Given the description of an element on the screen output the (x, y) to click on. 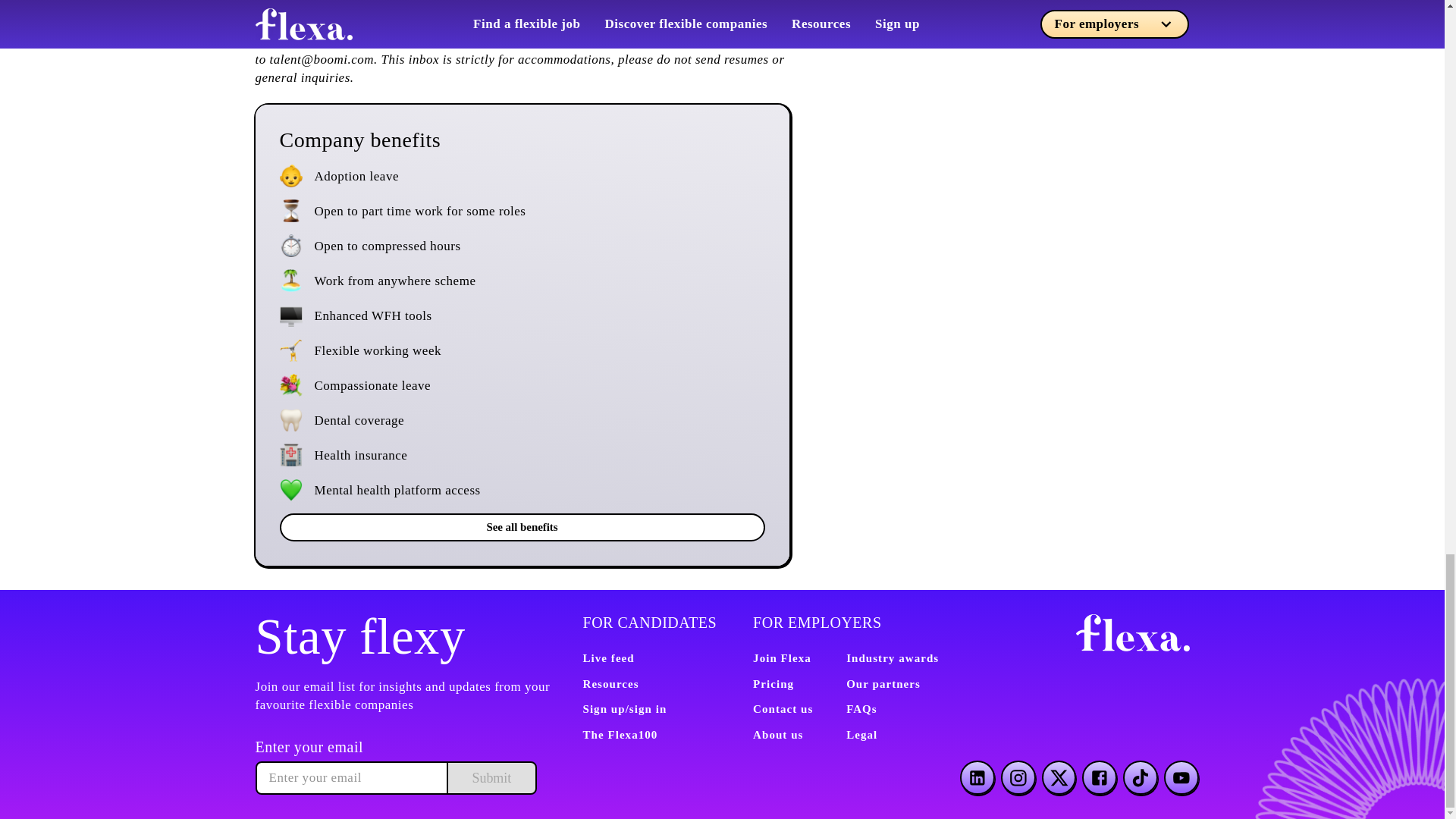
Legal (861, 734)
Resources (610, 684)
Join Flexa (781, 657)
See all benefits (521, 527)
Our partners (882, 684)
Pricing (772, 684)
Submit (490, 777)
Contact us (782, 708)
Live feed (607, 657)
Industry awards (892, 657)
FAQs (861, 708)
The Flexa100 (620, 734)
About us (777, 734)
